Given the description of an element on the screen output the (x, y) to click on. 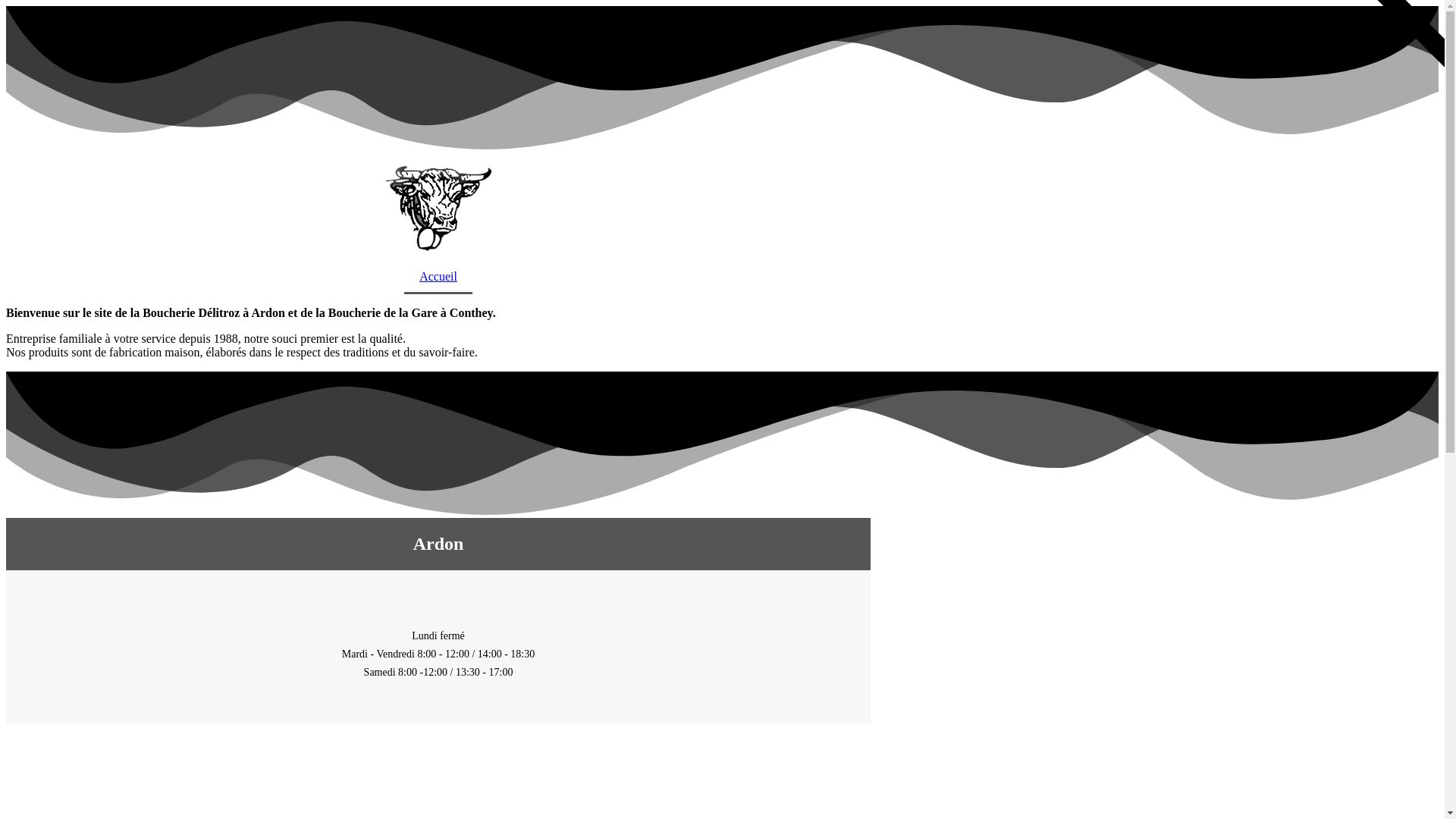
Accueil Element type: text (438, 276)
Aller au contenu Element type: text (5, 5)
